Given the description of an element on the screen output the (x, y) to click on. 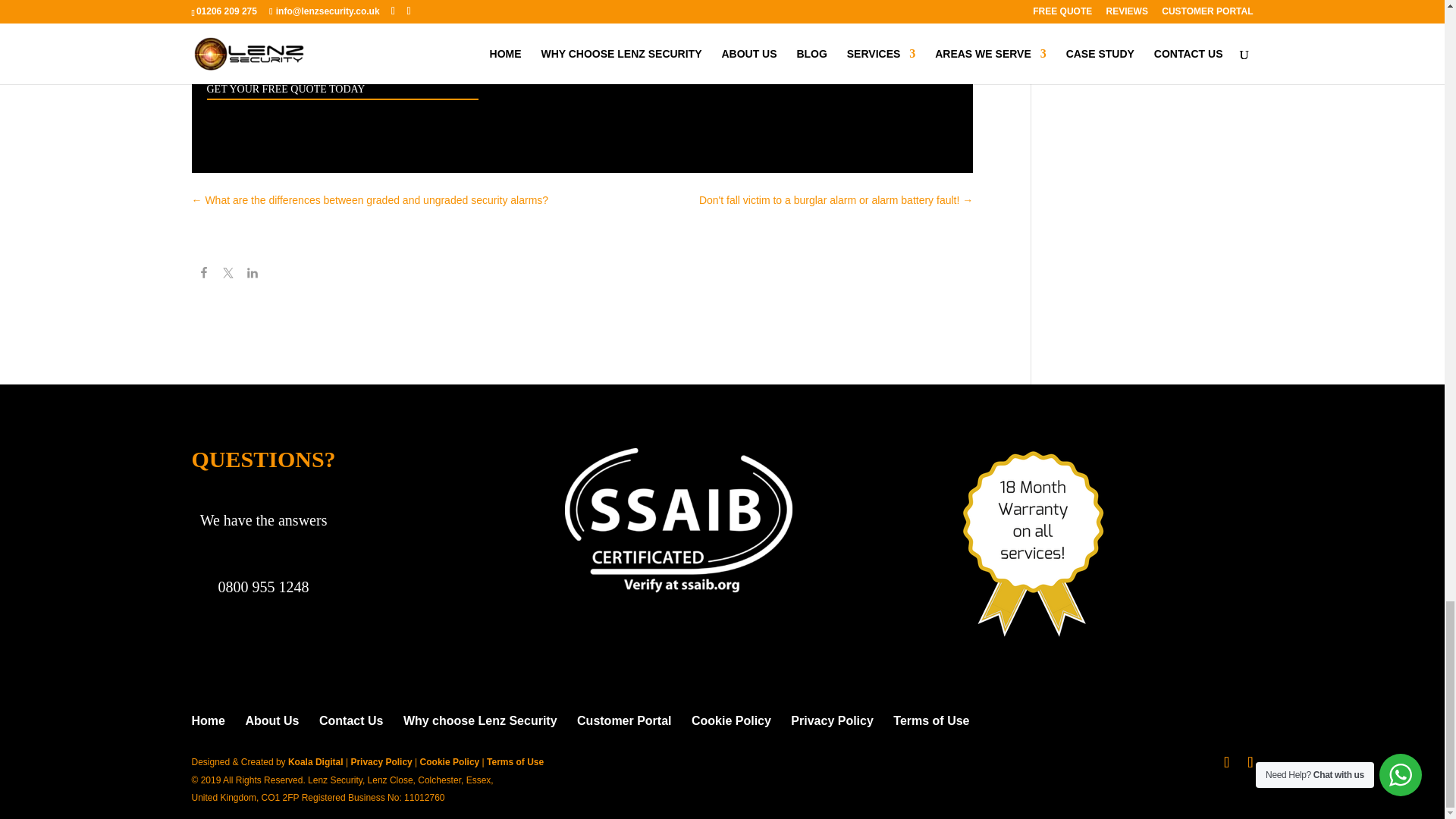
Share on Facebook (202, 274)
Share on LinkedIn (251, 274)
Share on Twitter (227, 274)
